Given the description of an element on the screen output the (x, y) to click on. 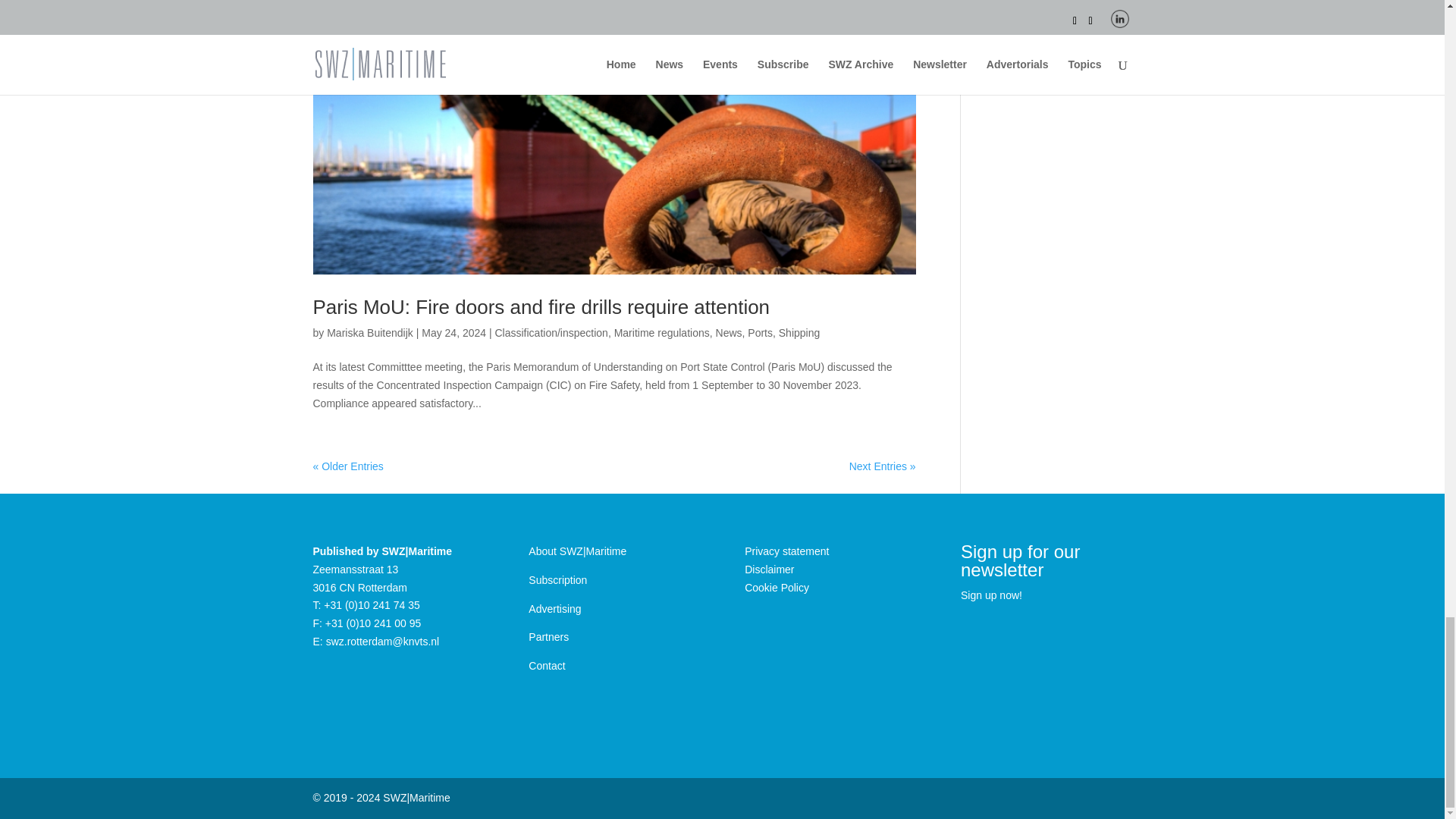
Contact (546, 665)
Subscription (557, 580)
Partners (548, 636)
Posts by Mariska Buitendijk (369, 332)
Advertising (554, 608)
